Given the description of an element on the screen output the (x, y) to click on. 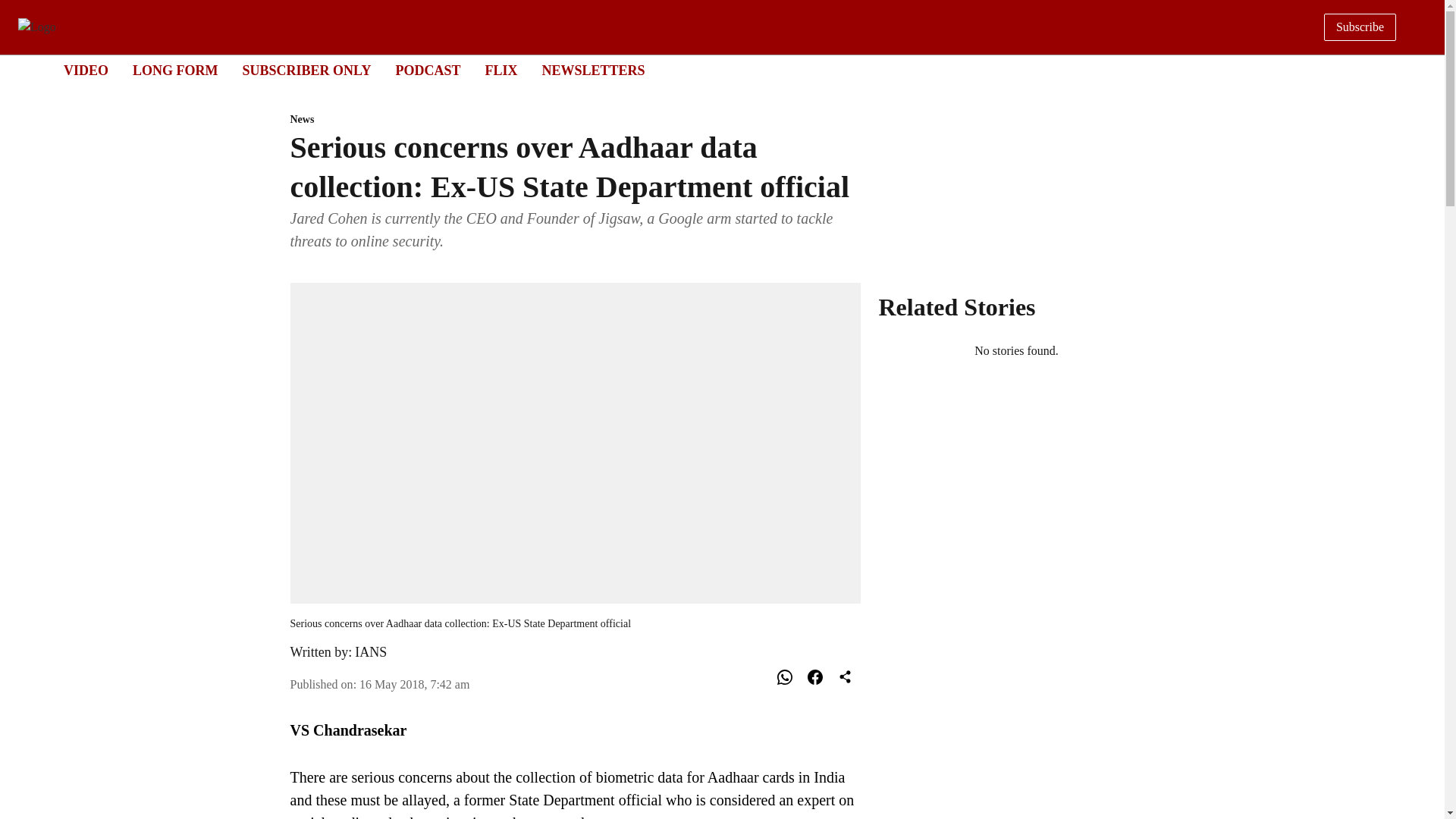
VIDEO (85, 70)
SUBSCRIBER ONLY (307, 70)
FLIX (500, 70)
PODCAST (427, 70)
NEWSLETTERS (593, 70)
LONG FORM (175, 70)
2018-05-16 07:42 (413, 684)
IANS (707, 70)
News (371, 652)
